Given the description of an element on the screen output the (x, y) to click on. 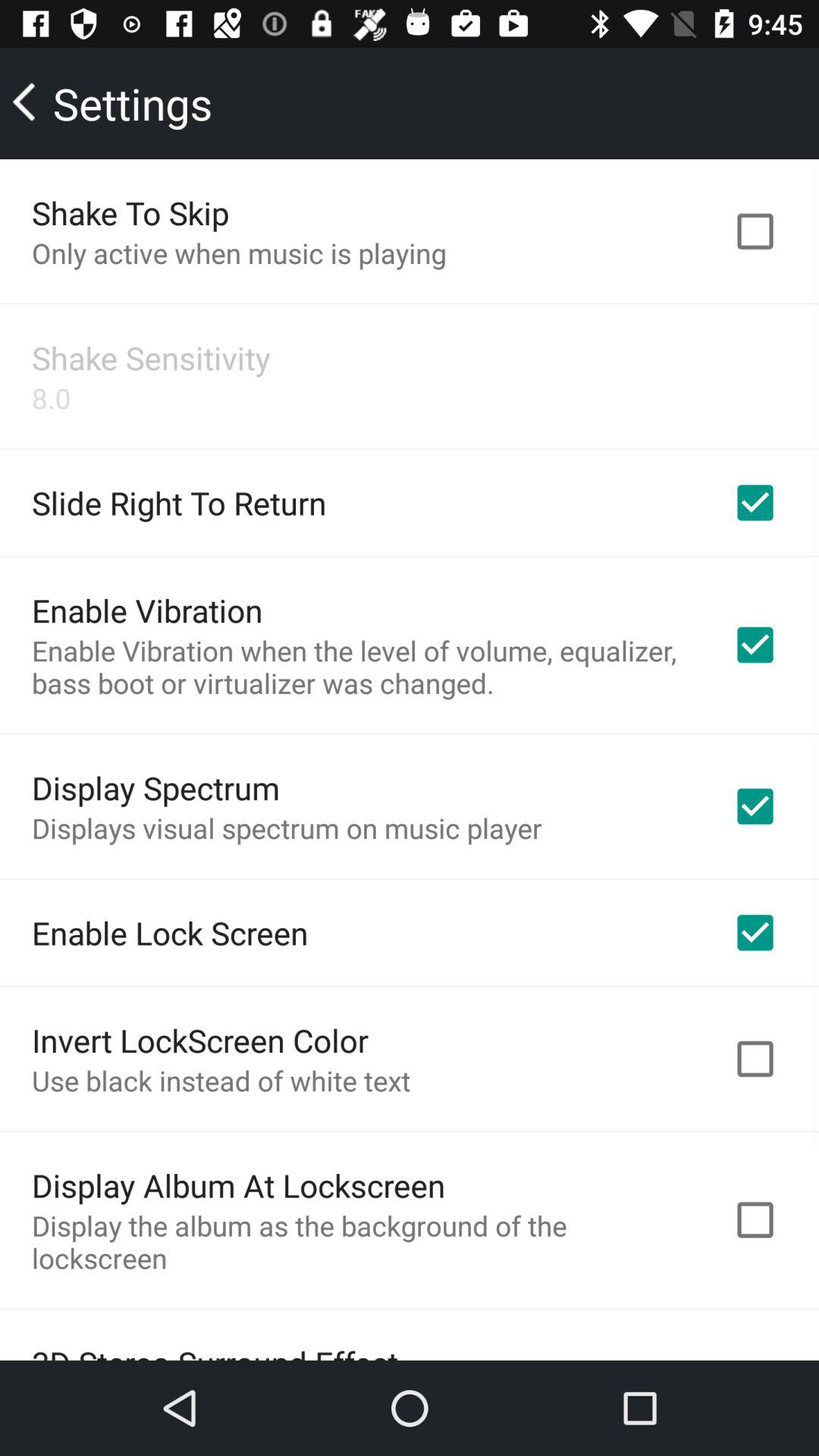
press the shake sensitivity item (150, 357)
